Given the description of an element on the screen output the (x, y) to click on. 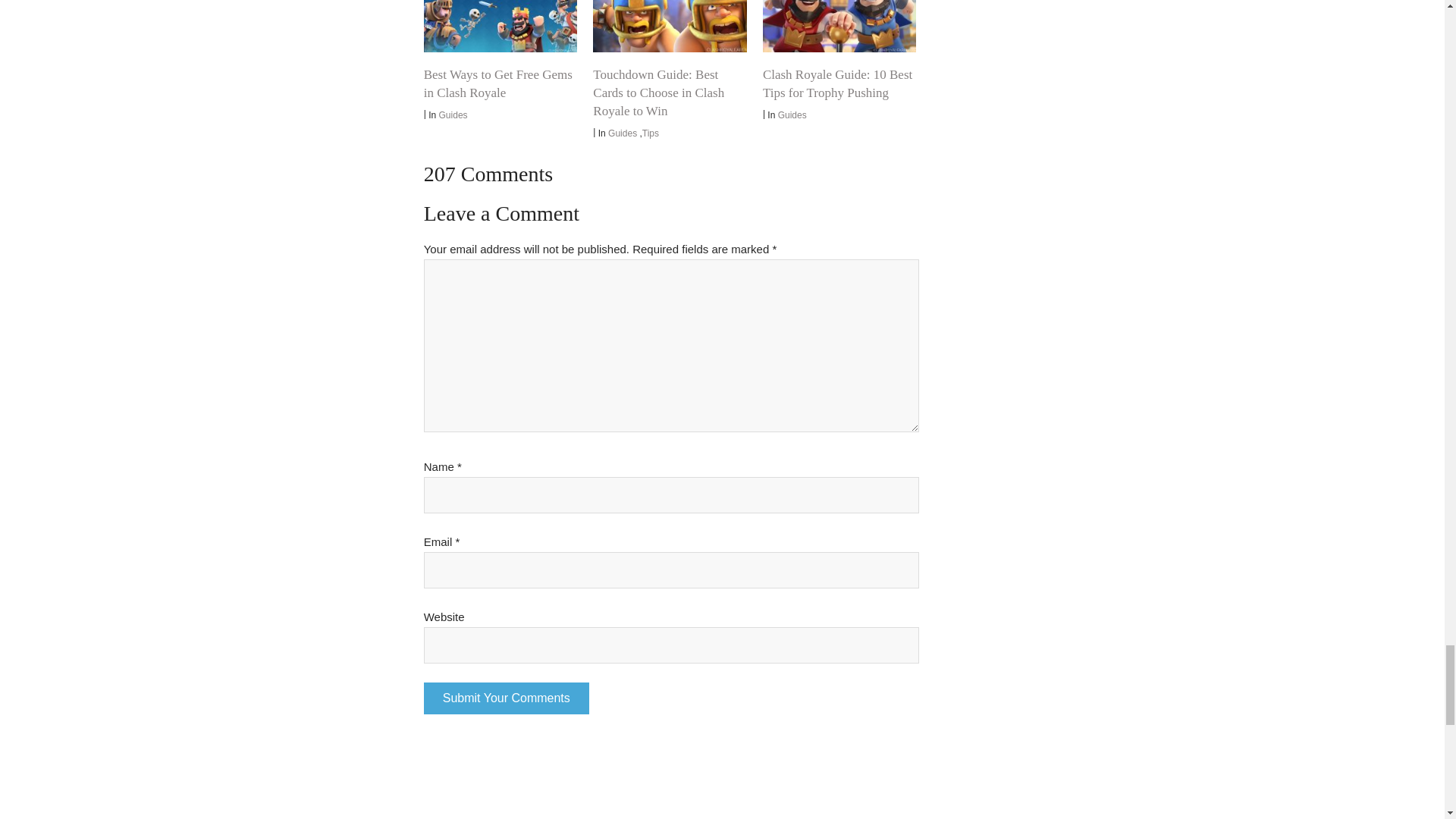
Guides (622, 132)
Guides (791, 114)
Best Ways to Get Free Gems in Clash Royale (497, 83)
Touchdown Guide: Best Cards to Choose in Clash Royale to Win (668, 25)
Touchdown Guide: Best Cards to Choose in Clash Royale to Win (657, 92)
Submit Your Comments (506, 698)
Clash Royale Guide: 10 Best Tips for Trophy Pushing (837, 83)
Submit Your Comments (506, 698)
Guides (453, 114)
Clash Royale Guide: 10 Best Tips for Trophy Pushing (838, 25)
